Given the description of an element on the screen output the (x, y) to click on. 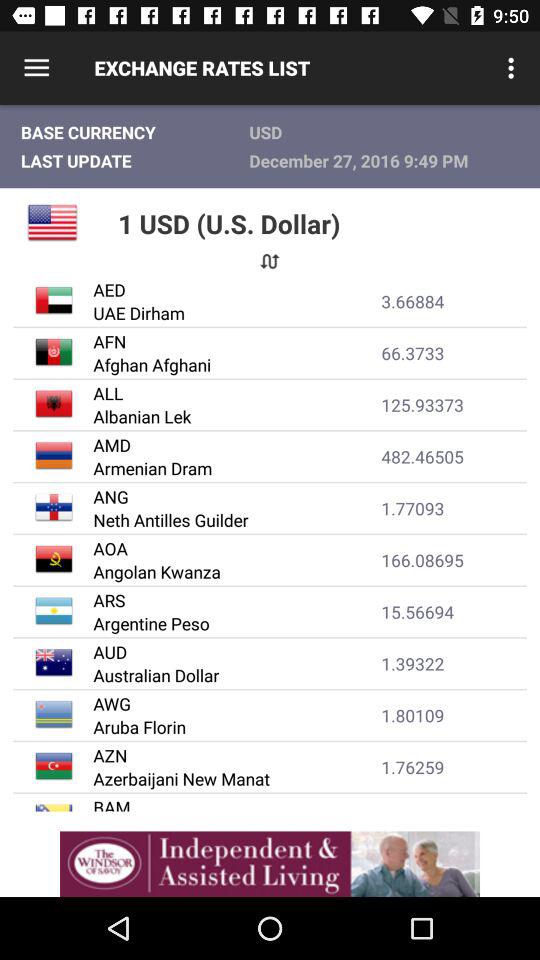
advertisement banner would take off site (270, 864)
